Given the description of an element on the screen output the (x, y) to click on. 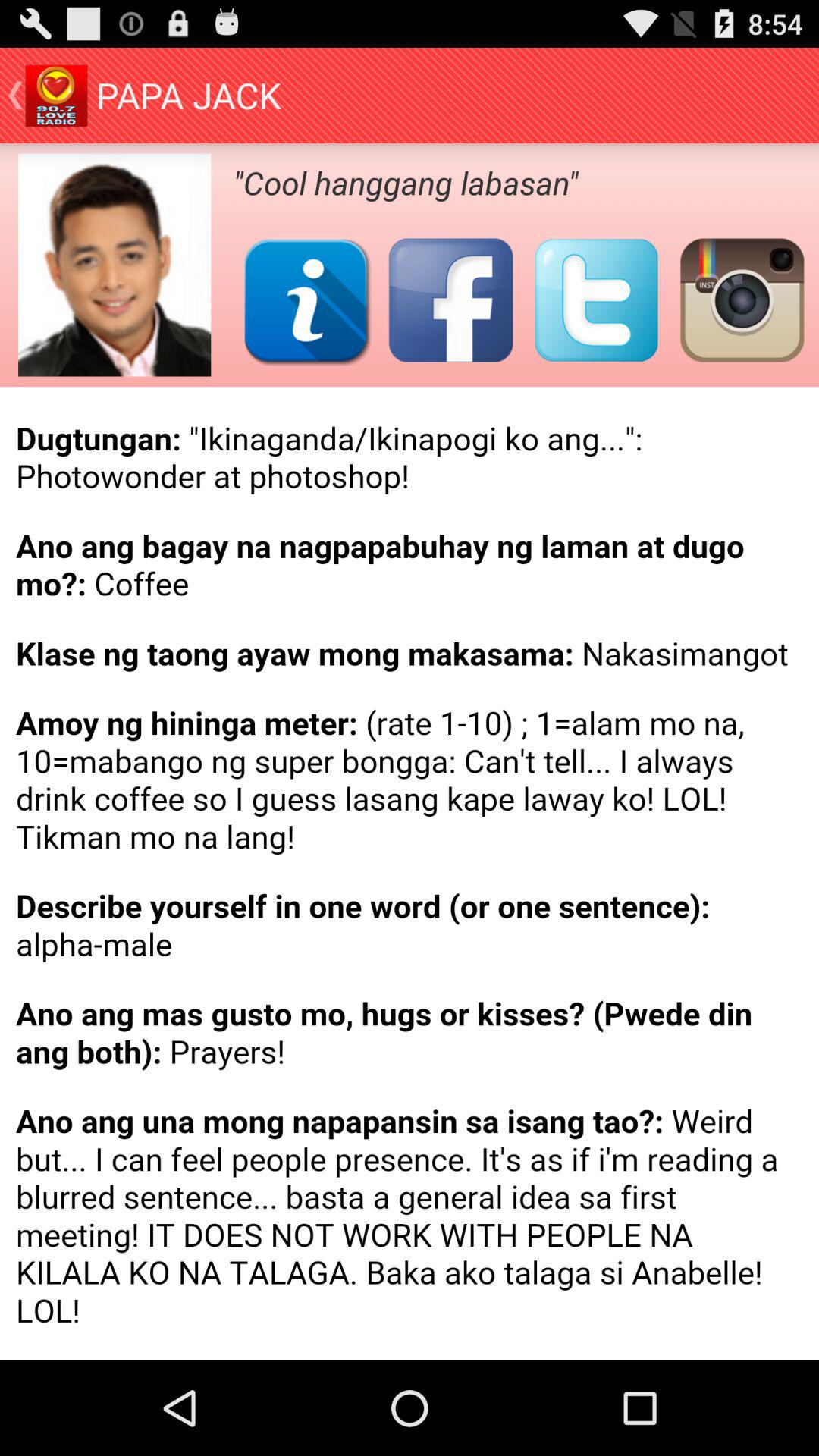
twitter button (596, 299)
